Given the description of an element on the screen output the (x, y) to click on. 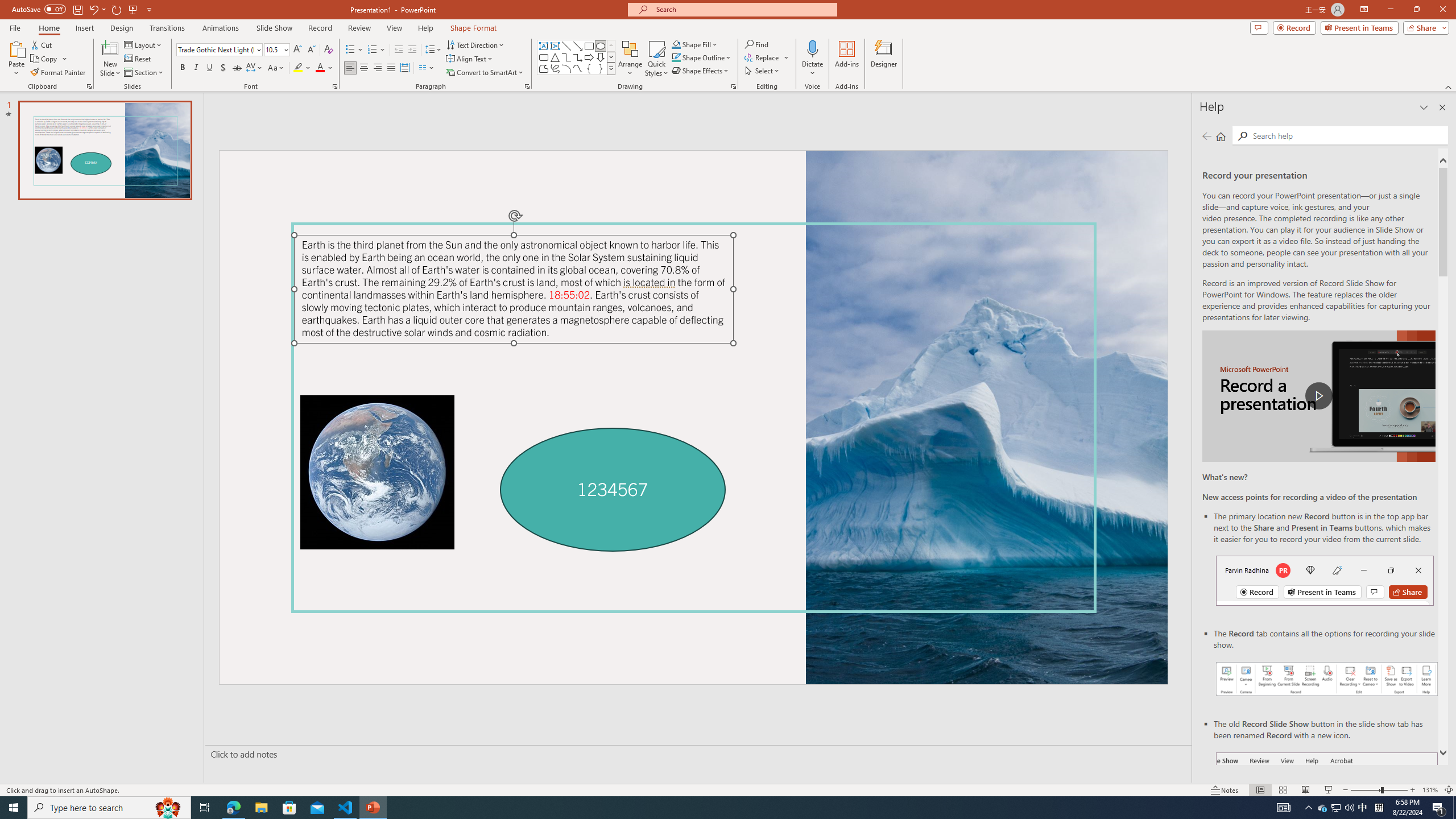
Record your presentations screenshot one (1326, 678)
